Given the description of an element on the screen output the (x, y) to click on. 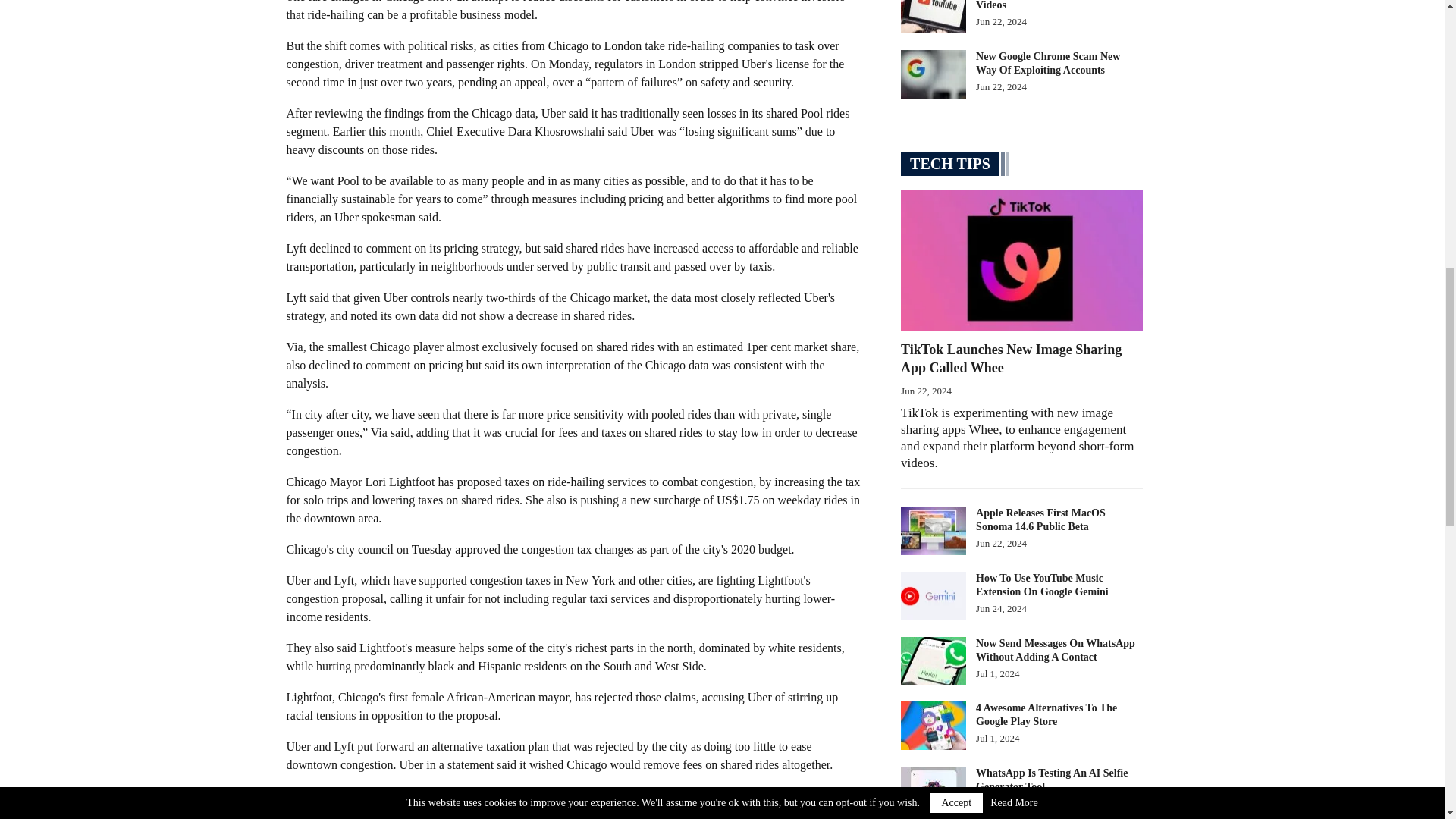
YouTube Enables Editing of Longer Videos (933, 16)
